Given the description of an element on the screen output the (x, y) to click on. 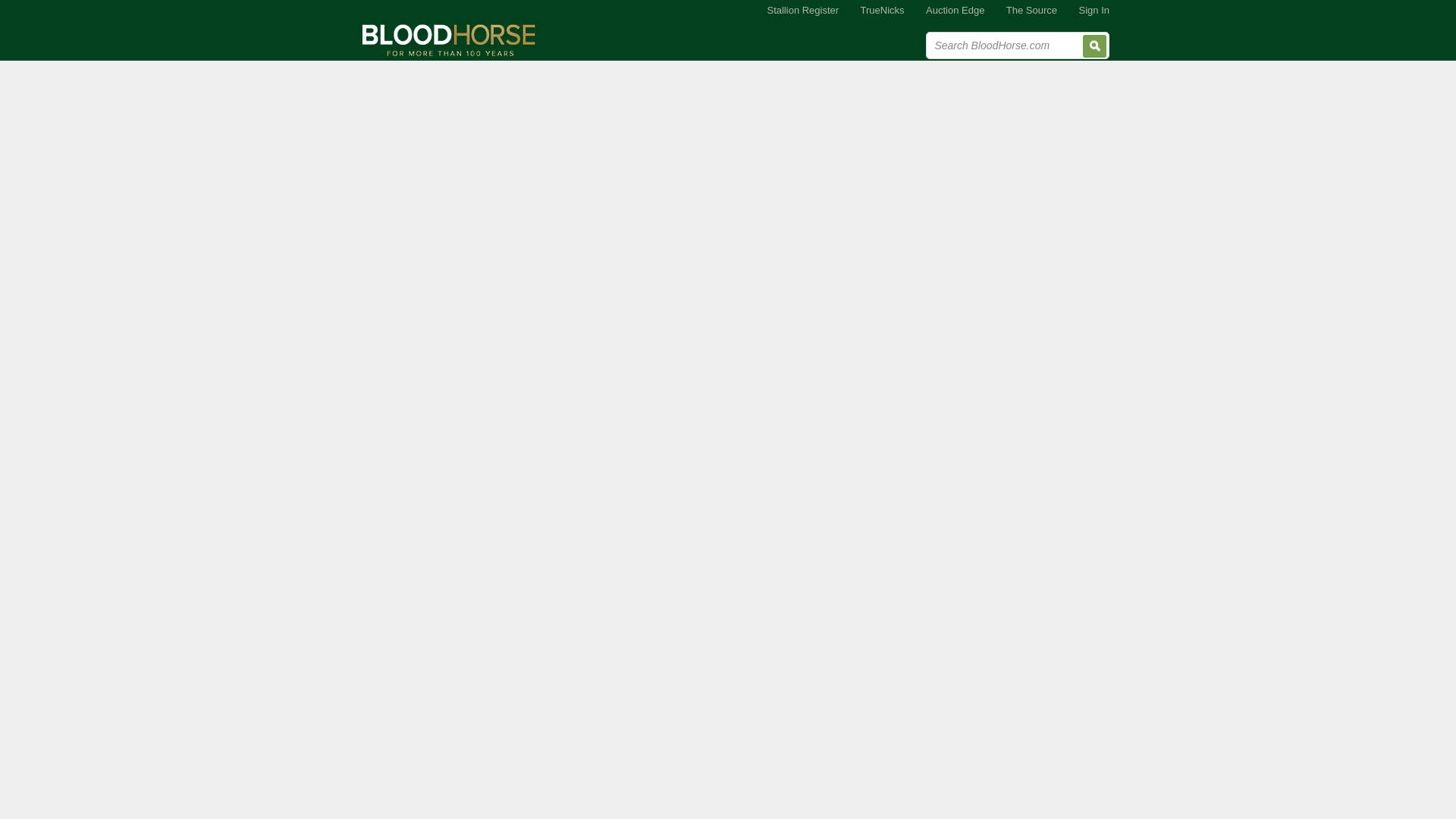
Blood-Horse: Thoroughbred Horse Racing News (449, 40)
The Source (1031, 10)
TrueNicks (882, 10)
Sign In (1094, 10)
Search (1094, 46)
Stallion Register (802, 10)
Auction Edge (954, 10)
Search (1094, 46)
